Given the description of an element on the screen output the (x, y) to click on. 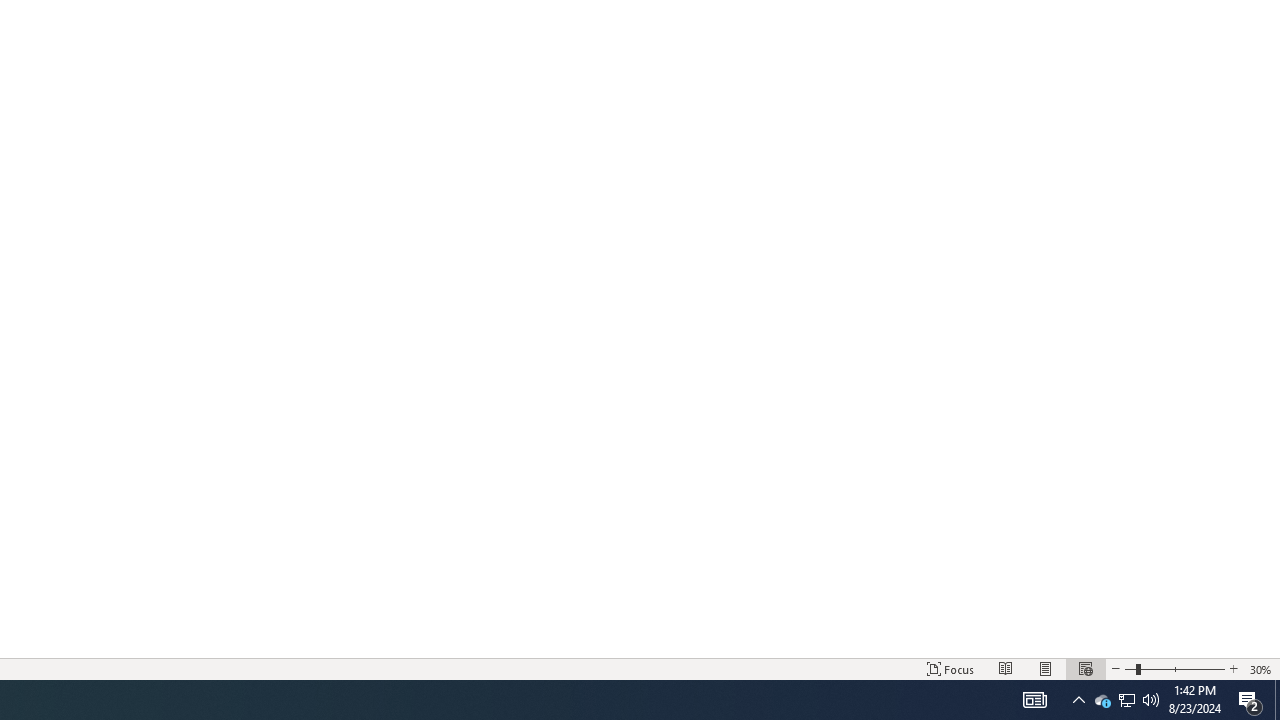
Zoom 30% (1261, 668)
